Given the description of an element on the screen output the (x, y) to click on. 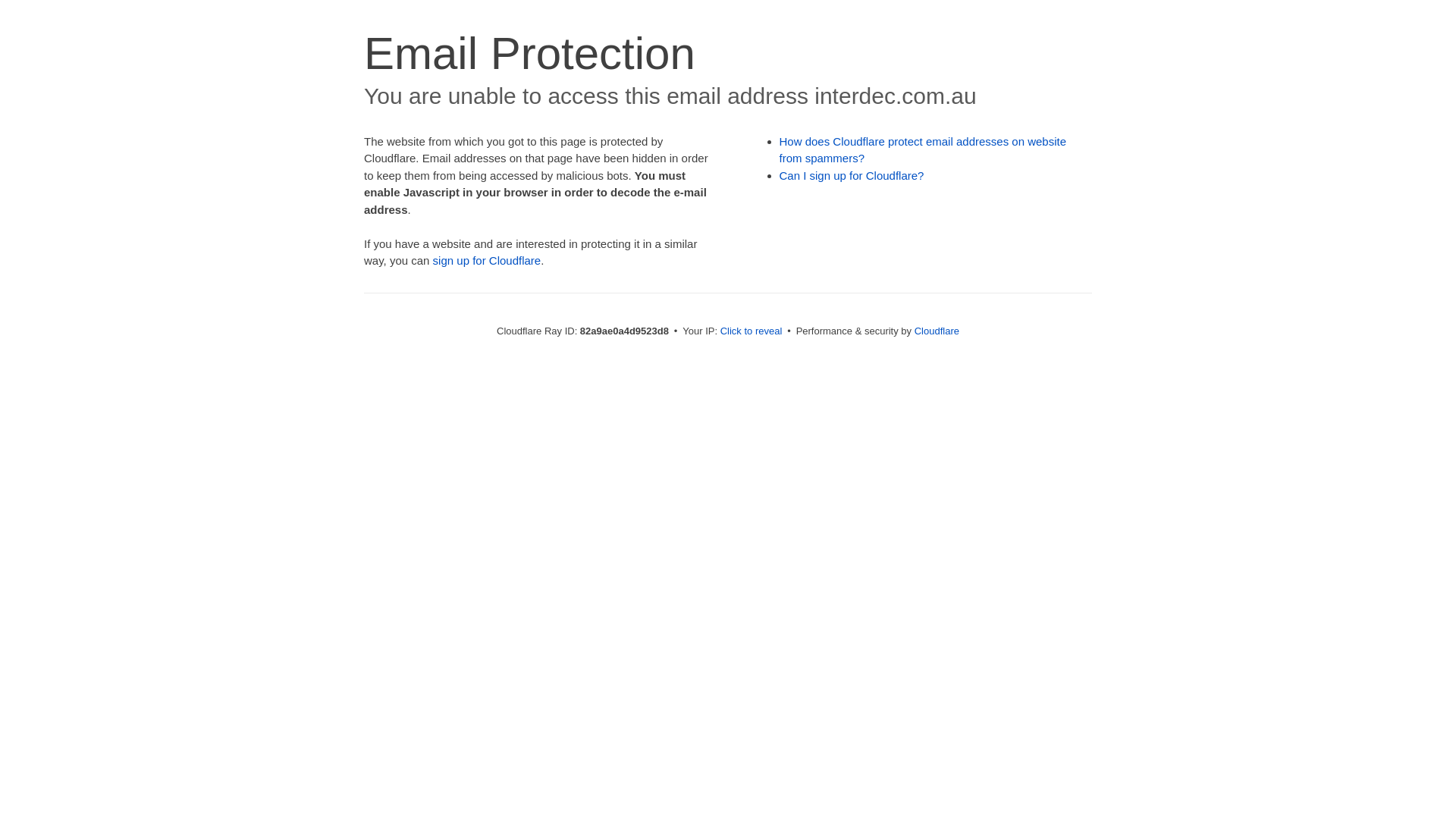
Cloudflare Element type: text (936, 330)
Can I sign up for Cloudflare? Element type: text (851, 175)
Click to reveal Element type: text (751, 330)
sign up for Cloudflare Element type: text (487, 260)
